Given the description of an element on the screen output the (x, y) to click on. 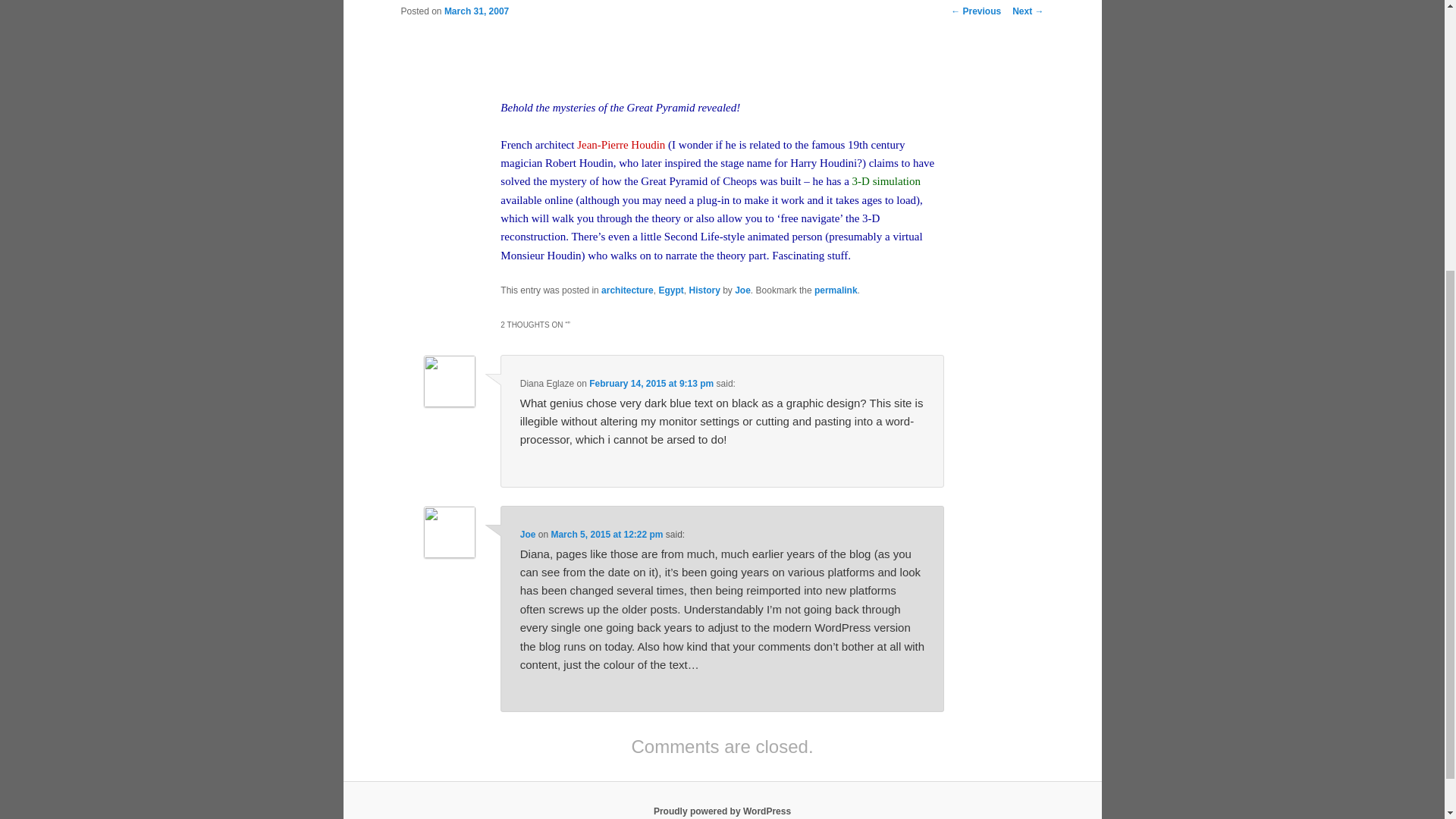
March 31, 2007 (476, 10)
History (703, 290)
Semantic Personal Publishing Platform (721, 810)
Egypt (670, 290)
Jean-Pierre Houdin (620, 144)
February 14, 2015 at 9:13 pm (651, 383)
March 5, 2015 at 12:22 pm (606, 534)
Joe (743, 290)
3-D simulation (885, 181)
architecture (627, 290)
